Given the description of an element on the screen output the (x, y) to click on. 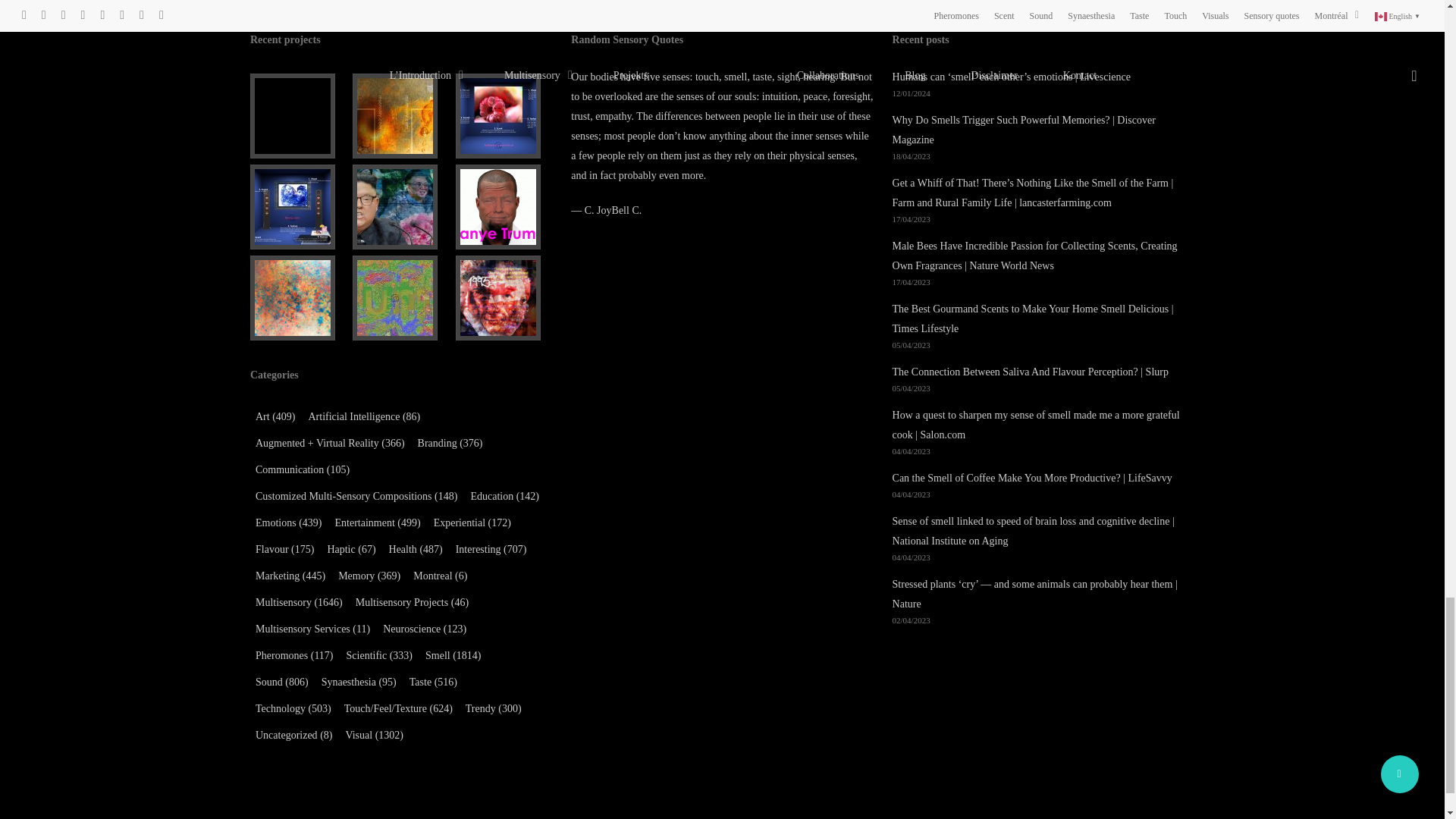
Get vaccinated. Get the Facts! (298, 115)
